Given the description of an element on the screen output the (x, y) to click on. 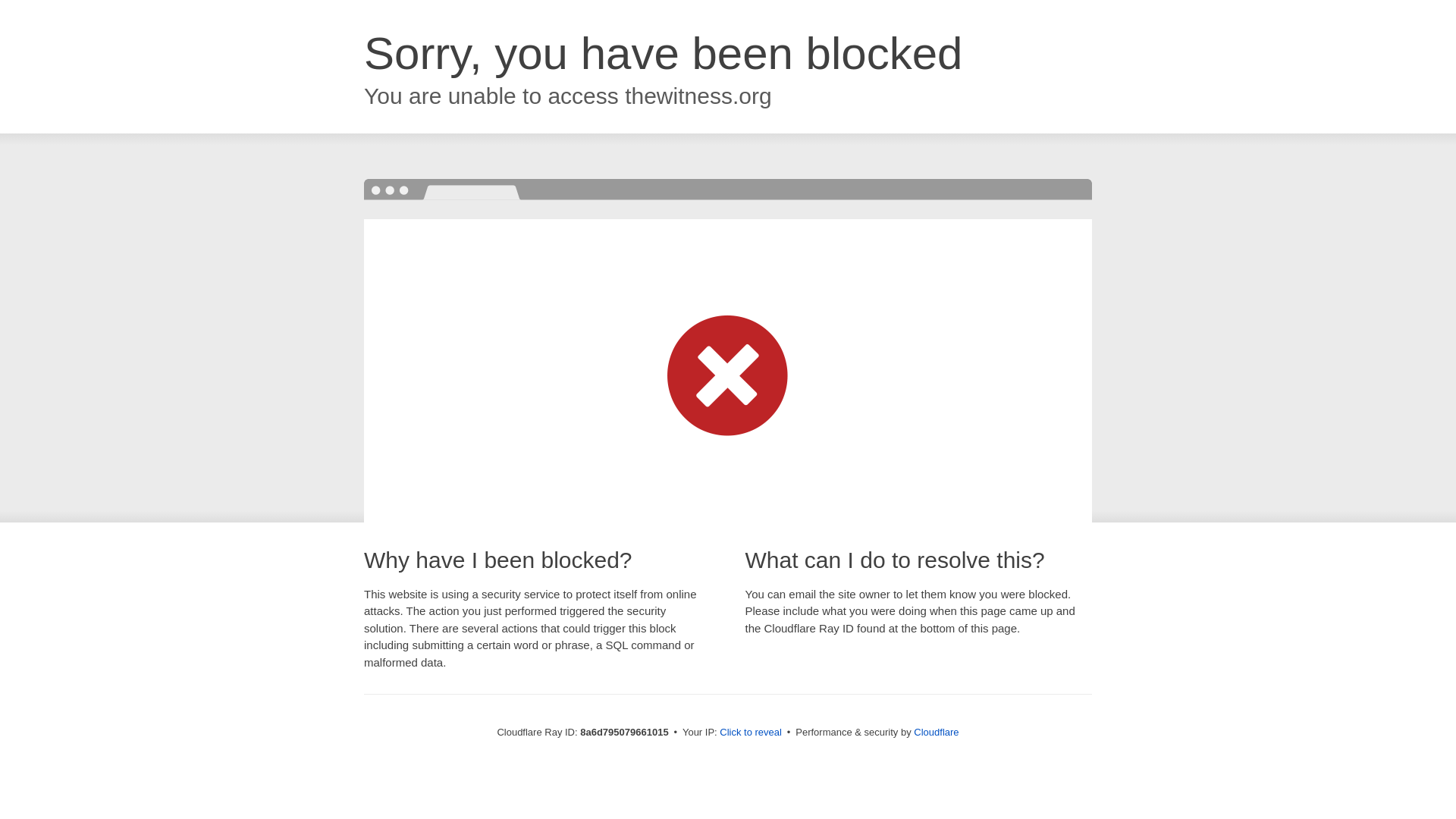
Cloudflare (936, 731)
Click to reveal (750, 732)
